Given the description of an element on the screen output the (x, y) to click on. 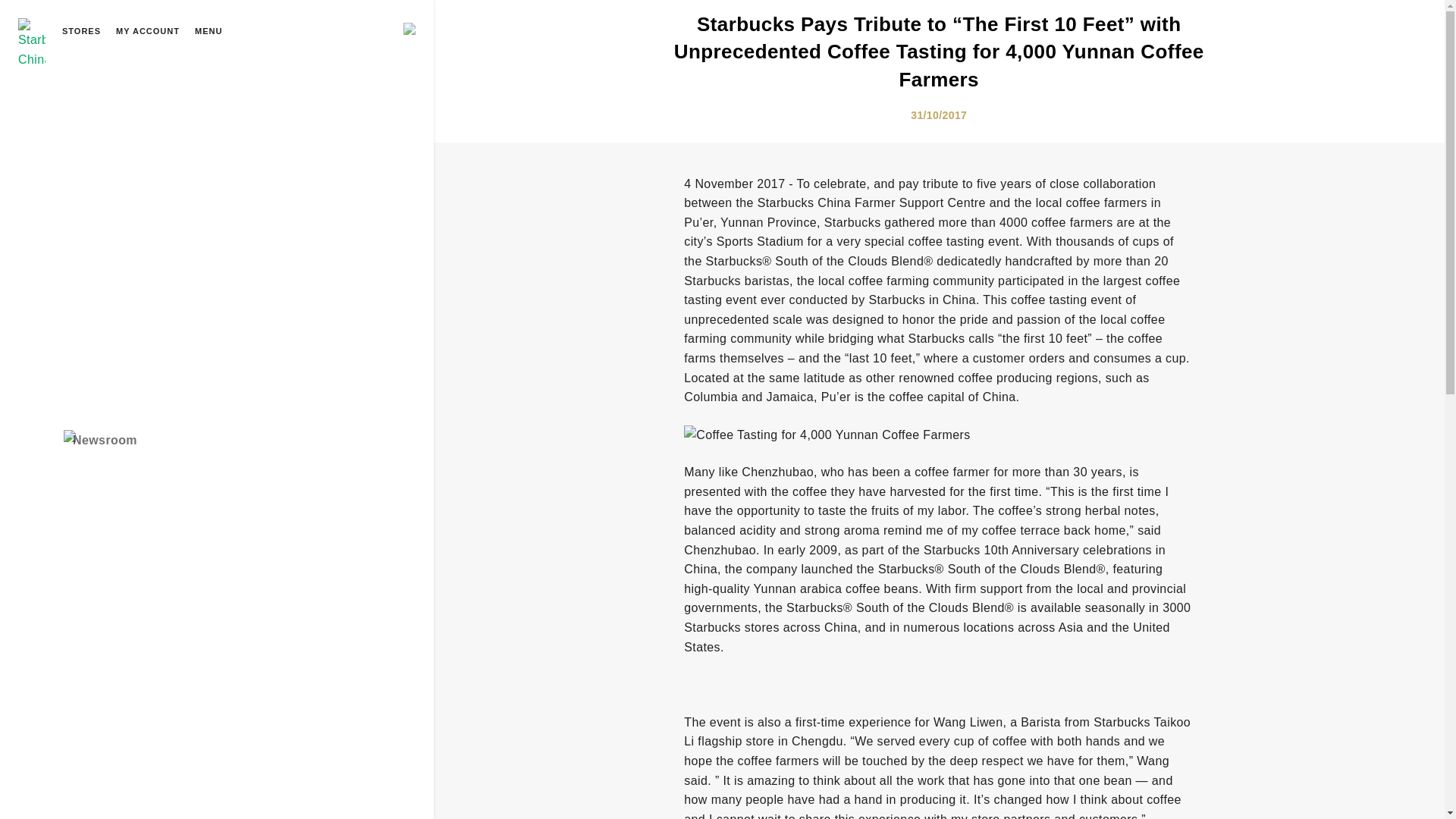
STORES (81, 31)
MENU (208, 31)
MY ACCOUNT (147, 31)
Newsroom (100, 440)
